Given the description of an element on the screen output the (x, y) to click on. 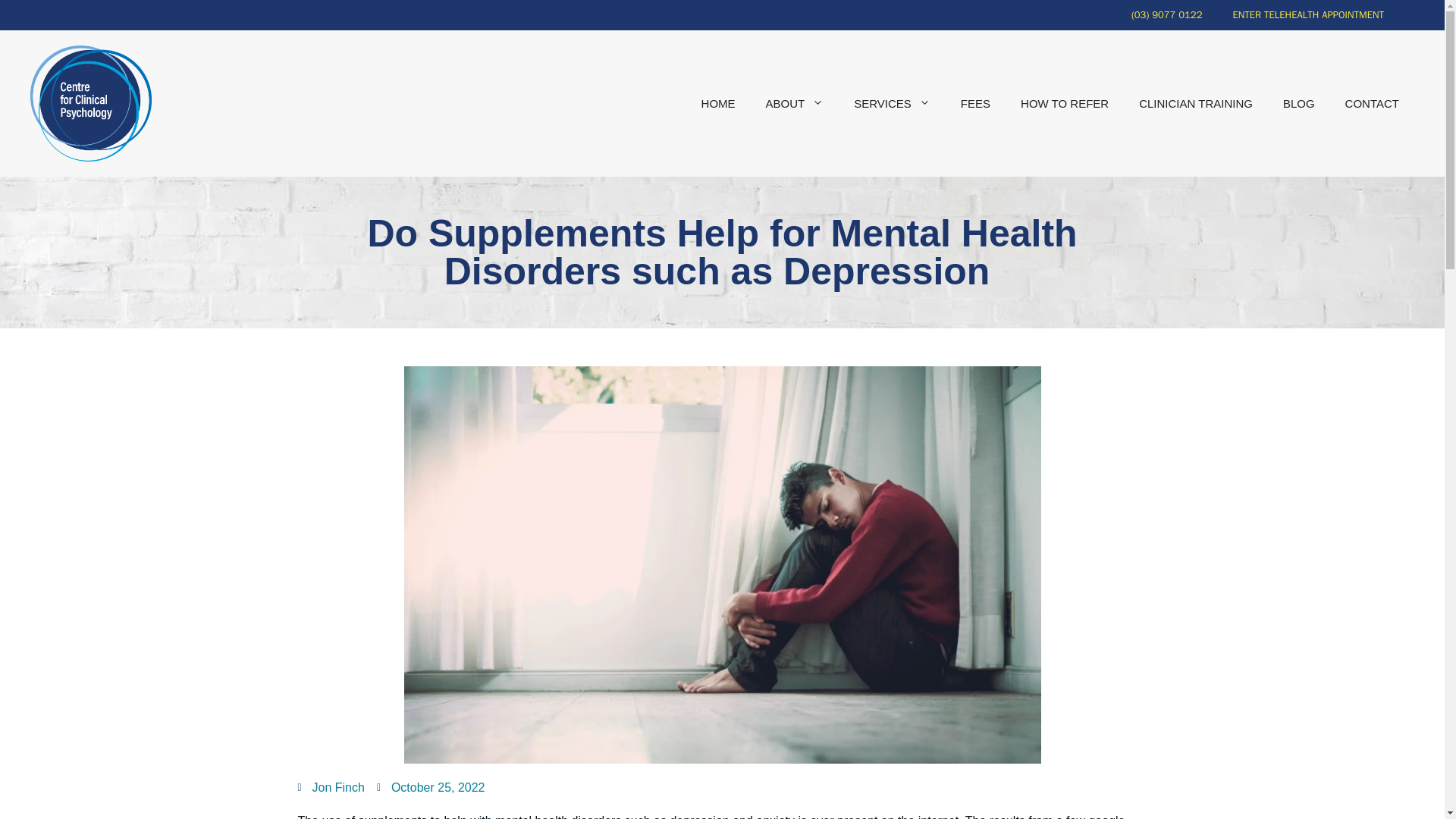
BLOG (1299, 103)
ABOUT (795, 103)
HOME (718, 103)
ENTER TELEHEALTH APPOINTMENT (1308, 15)
CLINICIAN TRAINING (1196, 103)
SERVICES (891, 103)
HOW TO REFER (1065, 103)
FEES (975, 103)
CONTACT (1371, 103)
